Given the description of an element on the screen output the (x, y) to click on. 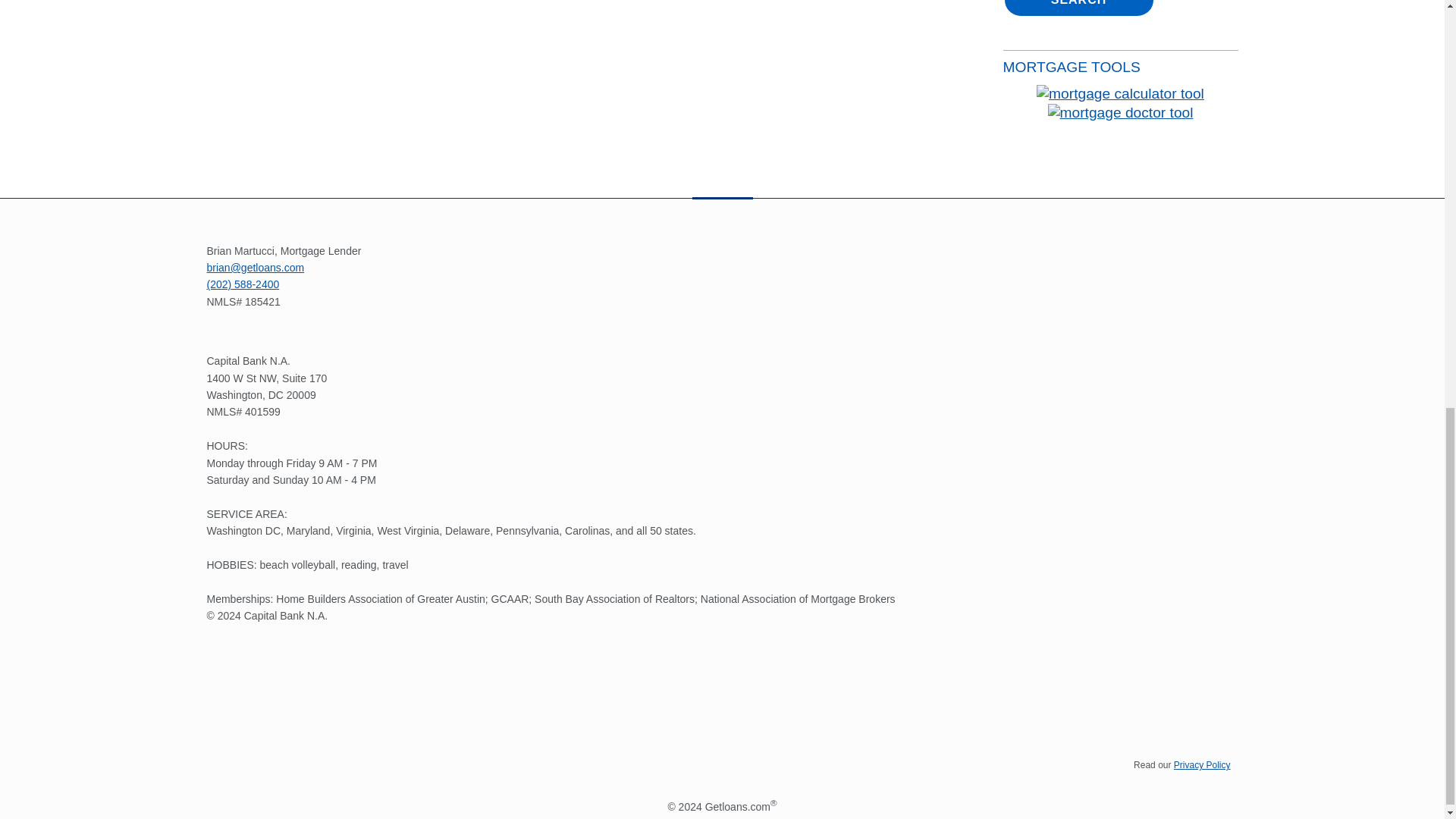
Search (1078, 8)
